Given the description of an element on the screen output the (x, y) to click on. 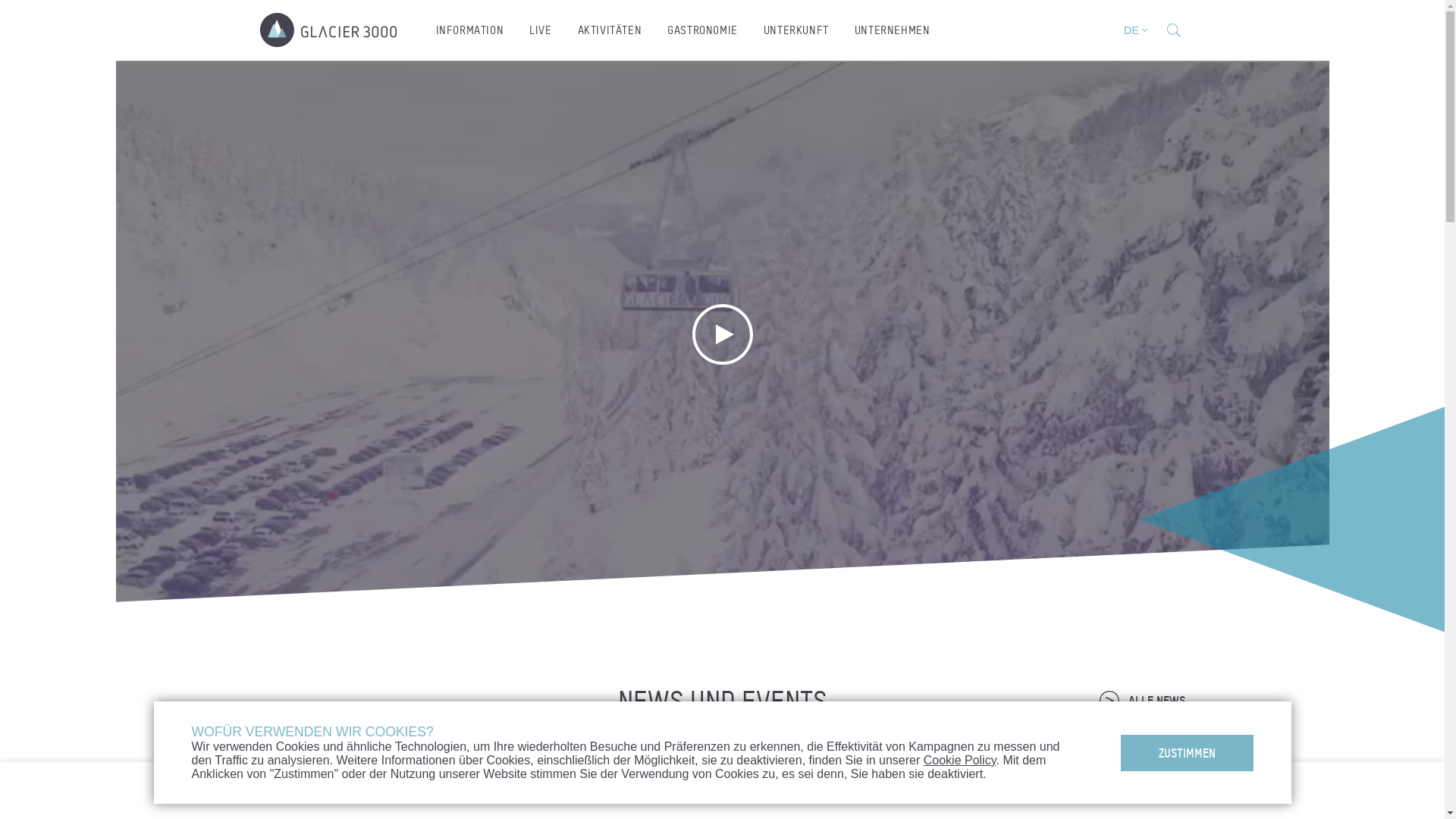
  Element type: text (327, 29)
  Element type: text (1172, 29)
 ALLE NEWS Element type: text (1141, 700)
INFORMATION Element type: text (470, 30)
UNTERKUNFT Element type: text (795, 30)
UNTERNEHMEN Element type: text (892, 30)
ZUSTIMMEN Element type: text (1186, 752)
Cookie Policy Element type: text (959, 759)
GASTRONOMIE Element type: text (702, 30)
LIVE Element type: text (540, 30)
